Given the description of an element on the screen output the (x, y) to click on. 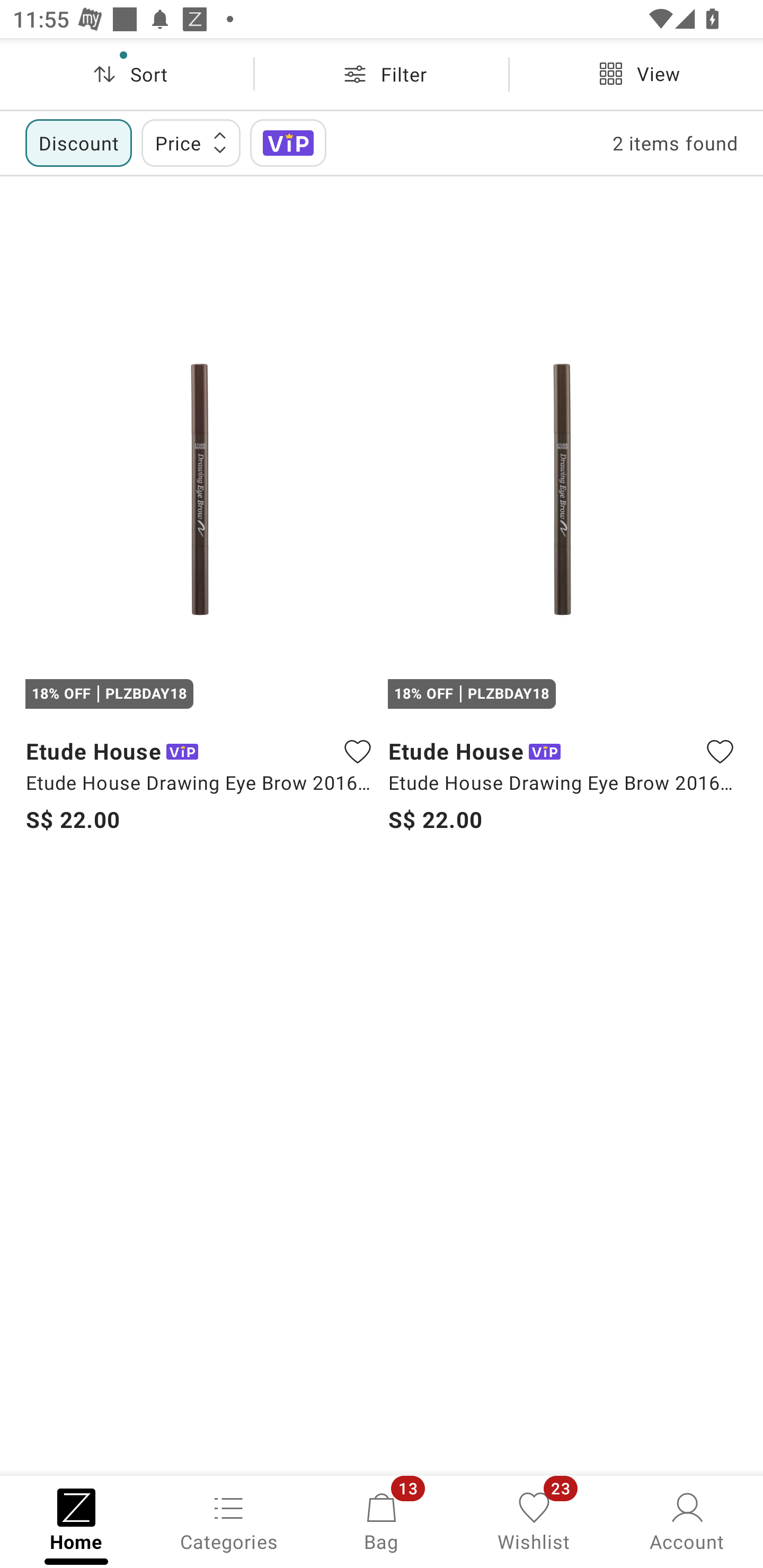
Sort (126, 73)
Filter (381, 73)
View (636, 73)
Discount (78, 142)
Price (190, 142)
Categories (228, 1519)
Bag, 13 new notifications Bag (381, 1519)
Wishlist, 23 new notifications Wishlist (533, 1519)
Account (686, 1519)
